Given the description of an element on the screen output the (x, y) to click on. 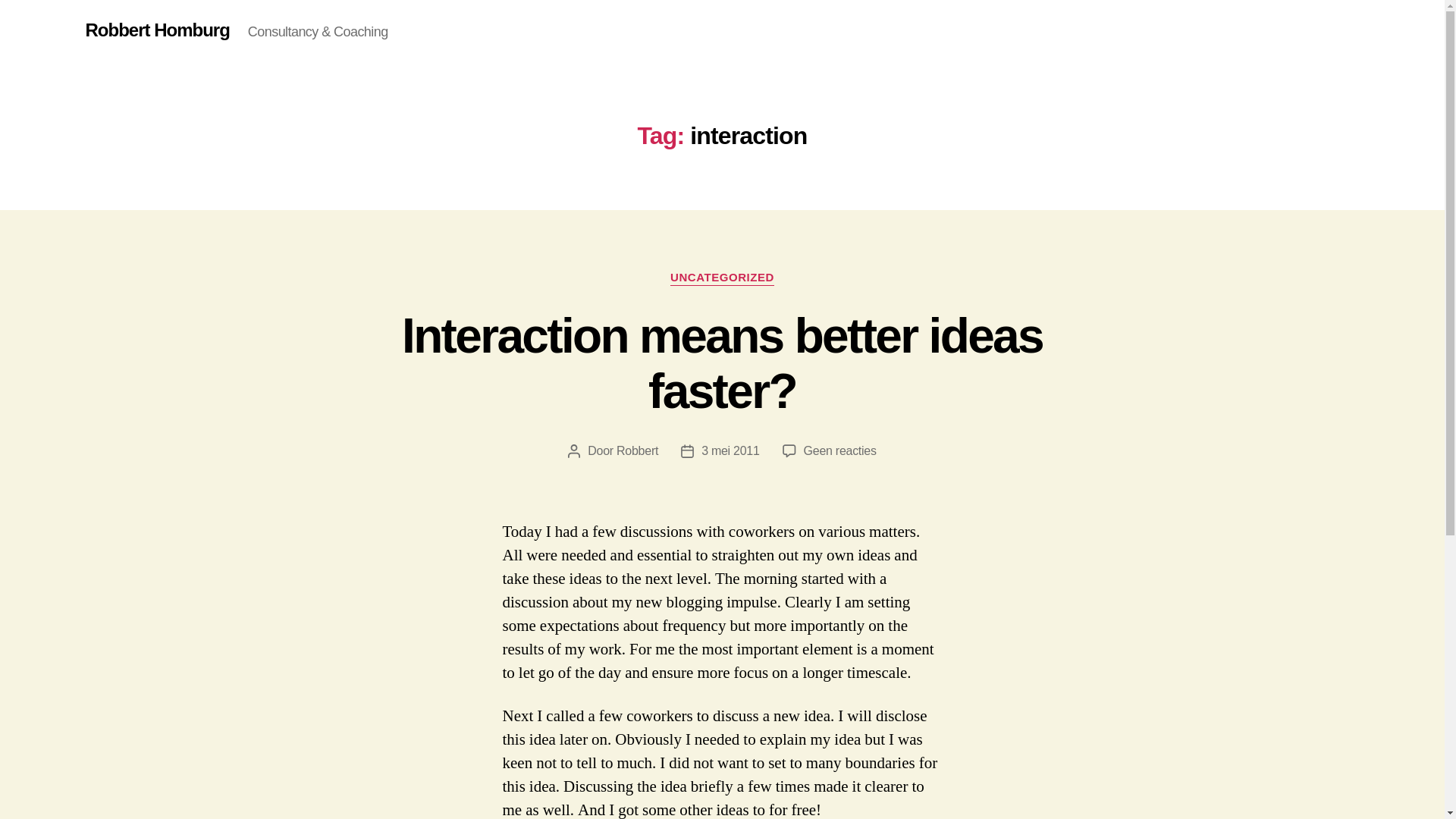
Interaction means better ideas faster? (721, 363)
Robbert Homburg (156, 30)
UNCATEGORIZED (721, 278)
3 mei 2011 (729, 450)
Robbert (839, 450)
